Given the description of an element on the screen output the (x, y) to click on. 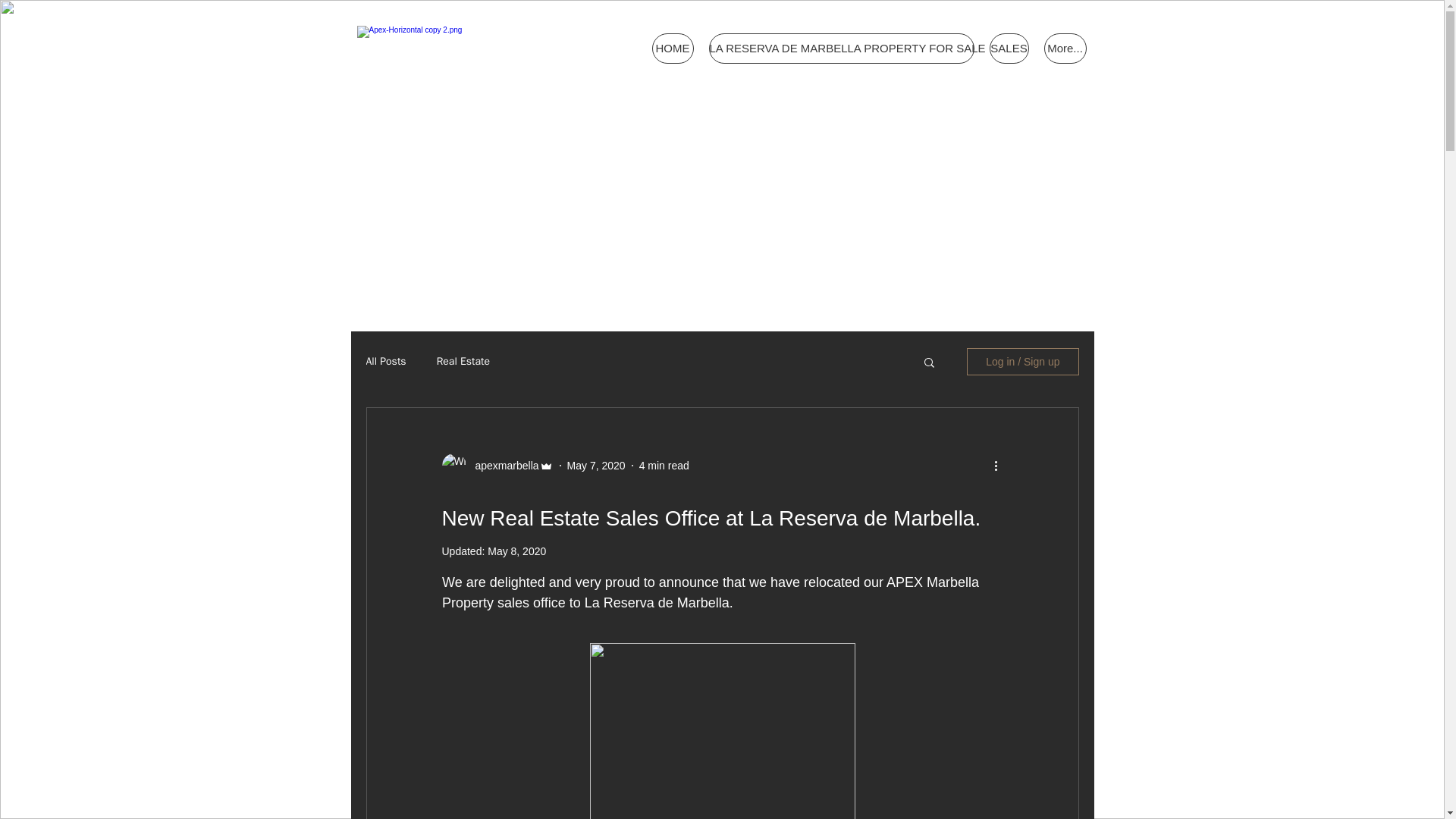
All Posts (385, 361)
4 min read (663, 465)
apexmarbella (501, 465)
LA RESERVA DE MARBELLA PROPERTY FOR SALE (840, 48)
May 7, 2020 (596, 465)
HOME (673, 48)
Real Estate (462, 361)
May 8, 2020 (516, 551)
SALES (1007, 48)
